Given the description of an element on the screen output the (x, y) to click on. 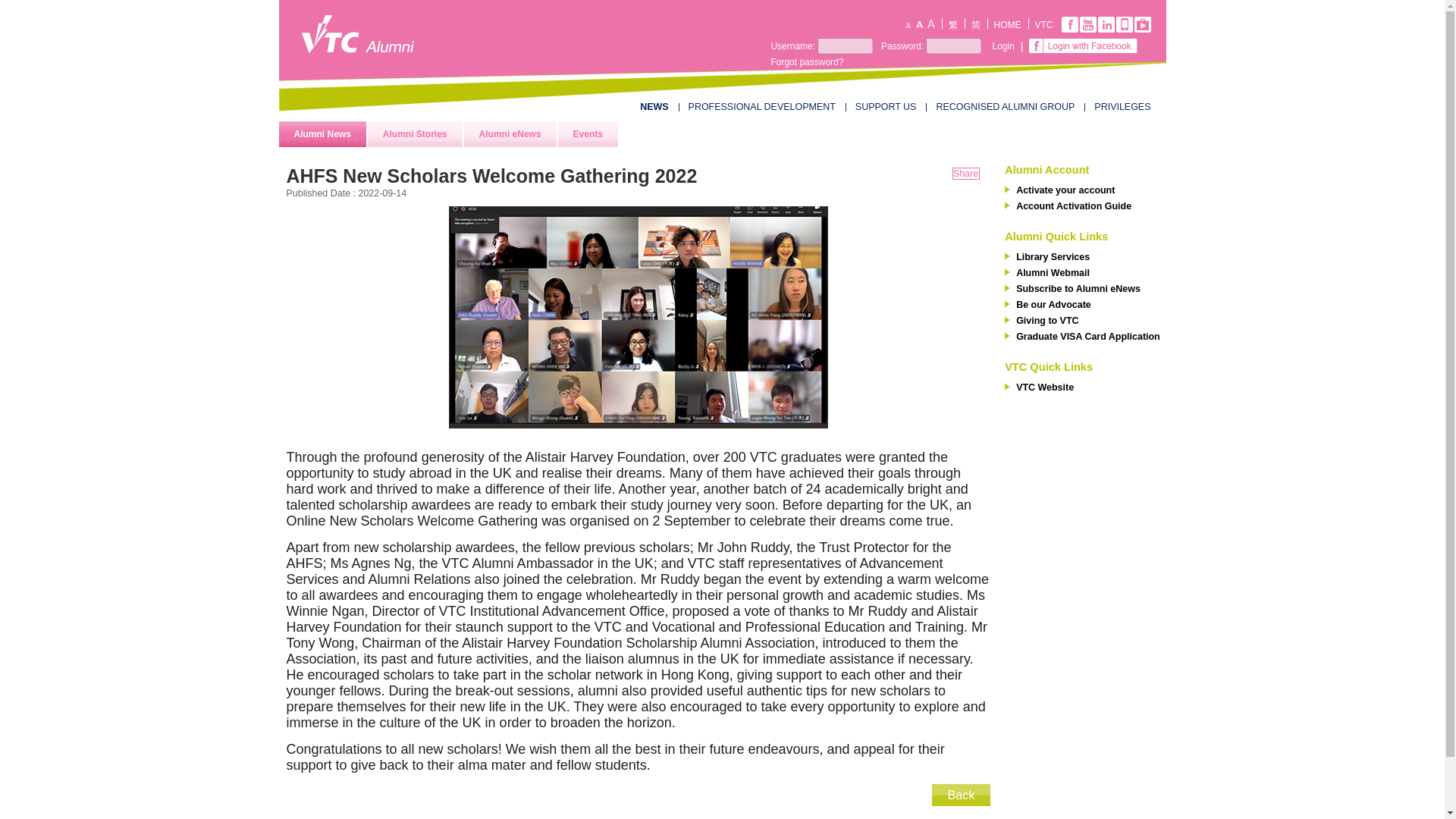
Alumni eNews (510, 134)
VTC Website (1086, 386)
Giving to VTC (1086, 319)
VTC (1042, 24)
RECOGNISED ALUMNI GROUP (1005, 106)
Alumni News (322, 134)
Username: (792, 45)
Activate your account (1086, 189)
PROFESSIONAL DEVELOPMENT (761, 106)
SUPPORT US (886, 106)
